Given the description of an element on the screen output the (x, y) to click on. 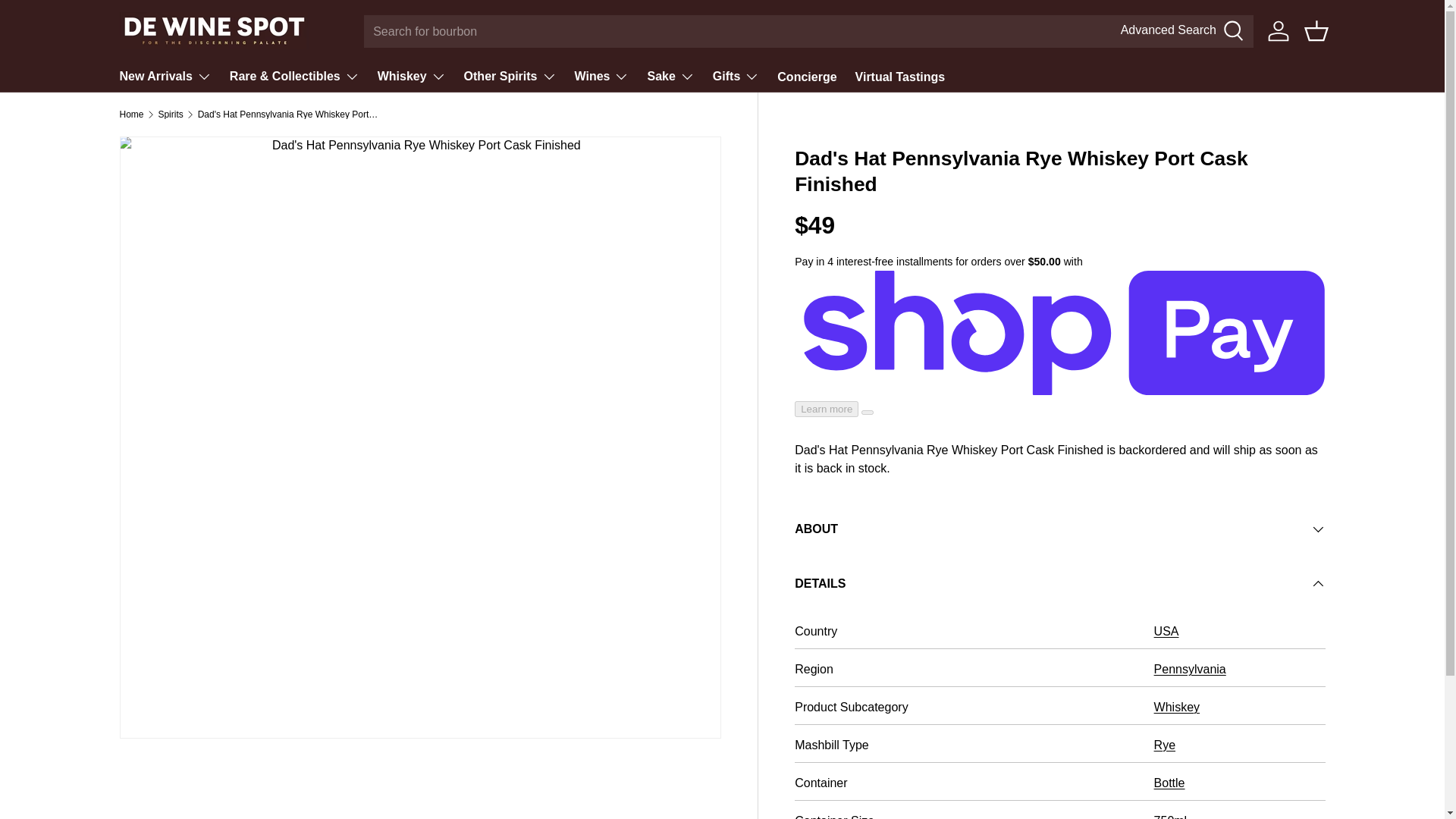
New Arrivals (165, 76)
Basket (1316, 29)
Whiskey (411, 76)
Skip to content (68, 21)
Log in (1278, 29)
Advanced Search   (1183, 31)
